Given the description of an element on the screen output the (x, y) to click on. 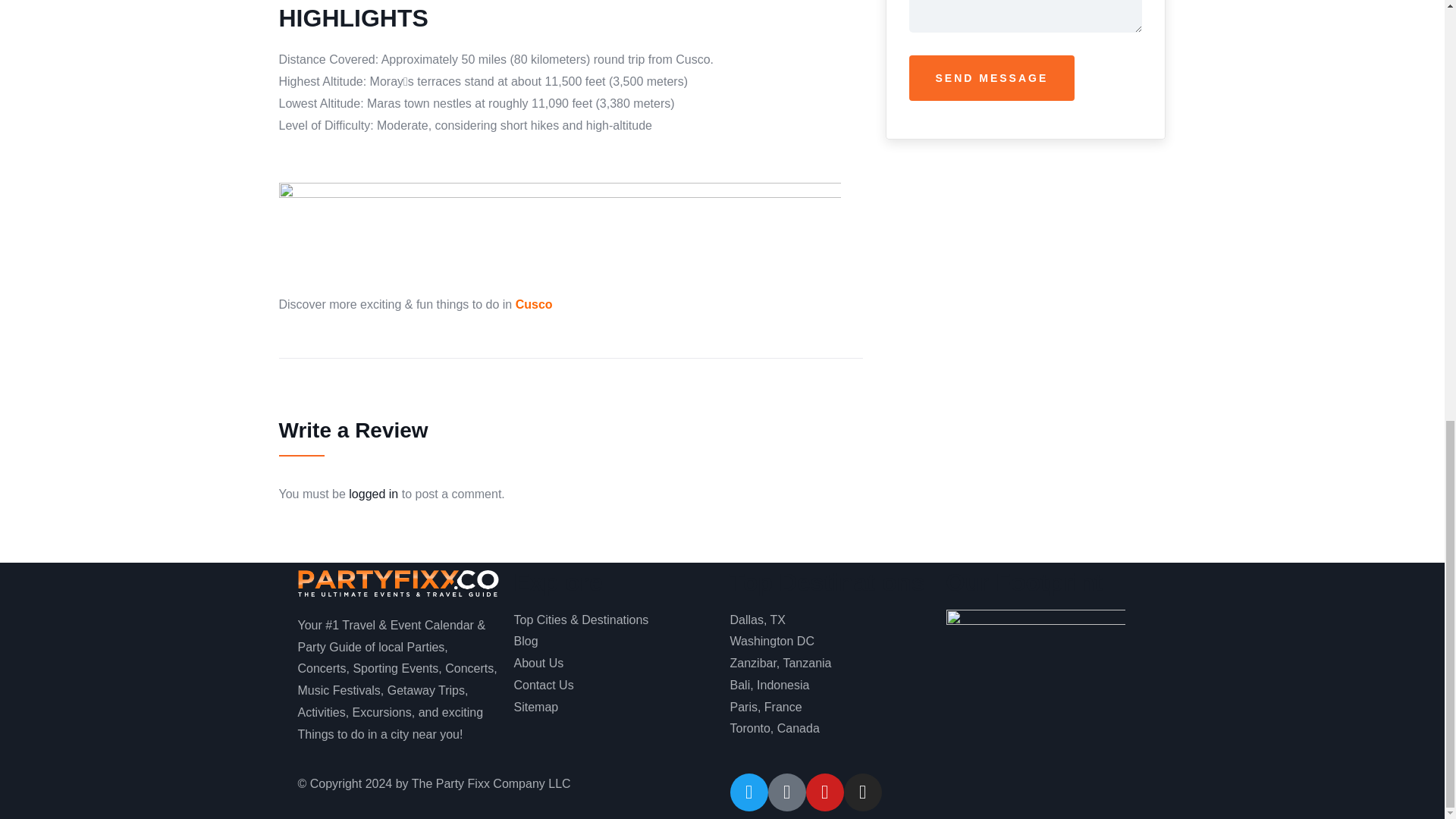
Home (397, 584)
Send message (991, 77)
